Given the description of an element on the screen output the (x, y) to click on. 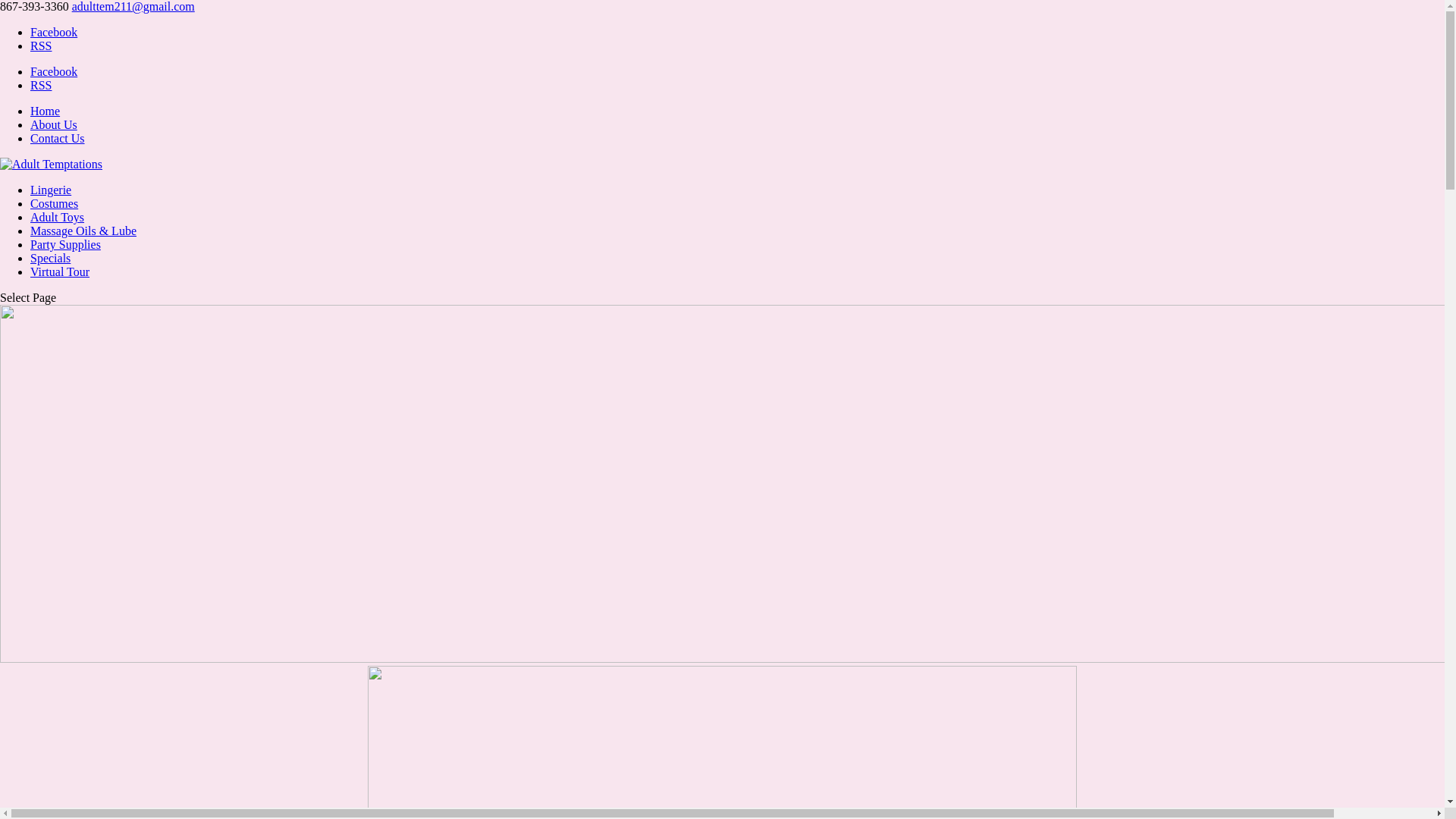
Virtual Tour Element type: text (59, 271)
Contact Us Element type: text (57, 137)
Massage Oils & Lube Element type: text (83, 230)
RSS Element type: text (40, 45)
Specials Element type: text (50, 257)
Adult Toys Element type: text (57, 216)
Home Element type: text (44, 110)
RSS Element type: text (40, 84)
Party Supplies Element type: text (65, 244)
Costumes Element type: text (54, 203)
Lingerie Element type: text (50, 189)
Facebook Element type: text (53, 71)
adulttem211@gmail.com Element type: text (133, 6)
About Us Element type: text (53, 124)
Facebook Element type: text (53, 31)
